Given the description of an element on the screen output the (x, y) to click on. 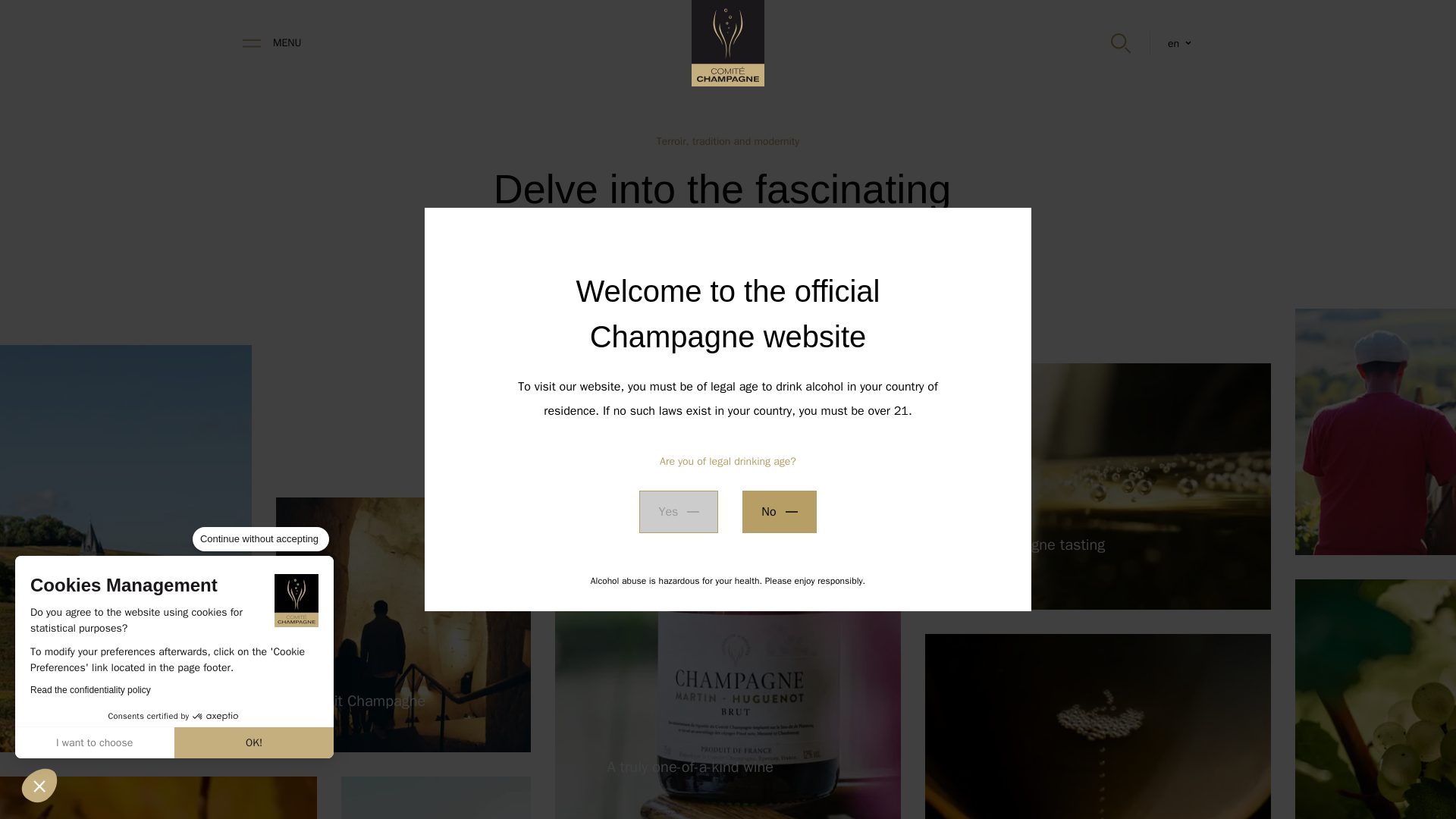
0 (287, 43)
No (106, 766)
Yes (778, 511)
